Given the description of an element on the screen output the (x, y) to click on. 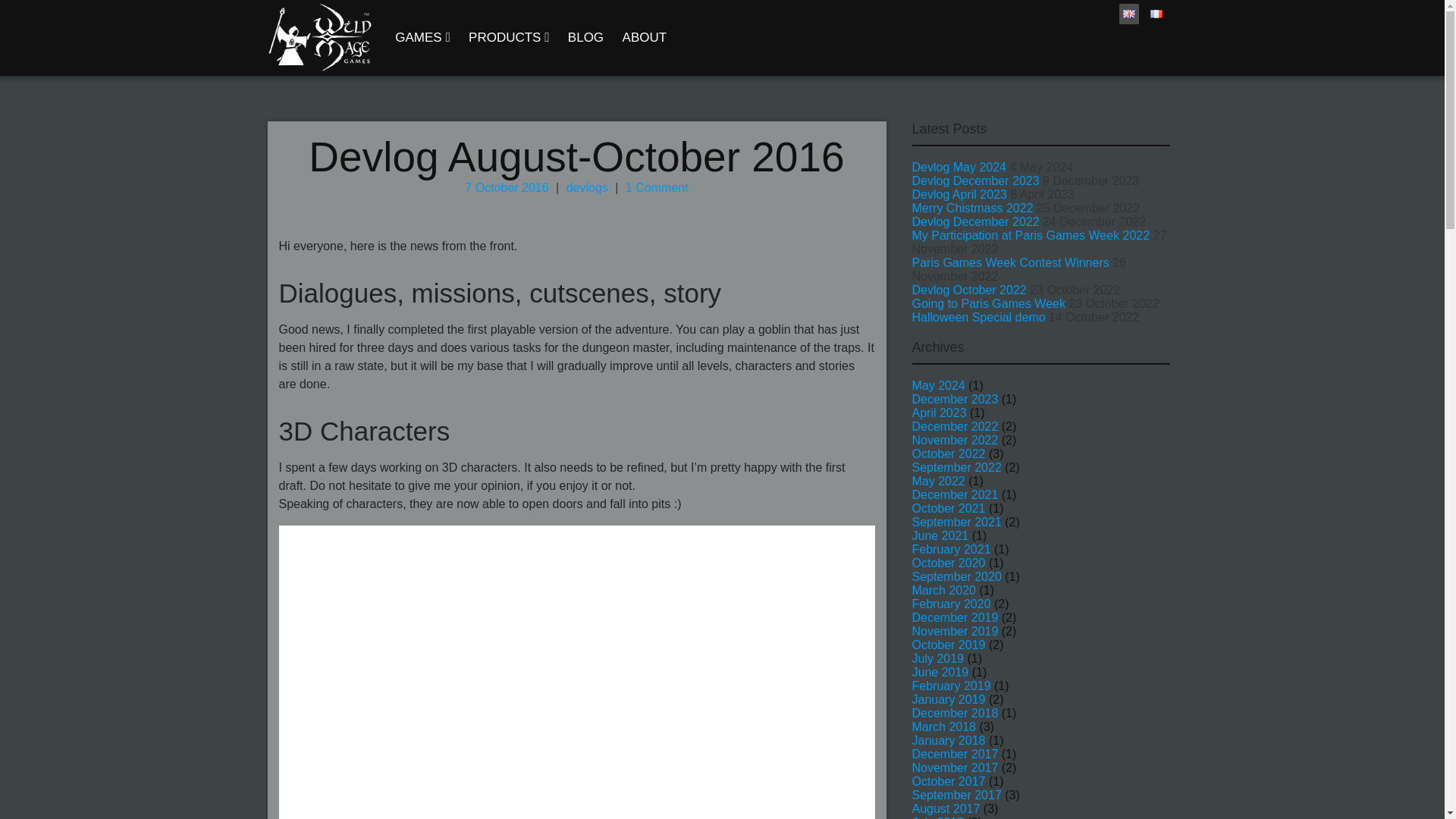
May 2024 (937, 385)
Devlog October 2022 (968, 289)
7 October 2016 (506, 187)
December 2022 (954, 426)
devlogs (587, 187)
Paris Games Week Contest Winners (1009, 262)
Halloween Special demo (978, 317)
Devlog May 2024 (958, 166)
Wild Mage Game Games wildmagegame wildmagegames (319, 38)
April 2023 (938, 412)
Permalink to Devlog August-October 2016 (576, 156)
PRODUCTS (508, 38)
November 2022 (954, 440)
Devlog December 2022 (975, 221)
Devlog December 2023 (975, 180)
